Given the description of an element on the screen output the (x, y) to click on. 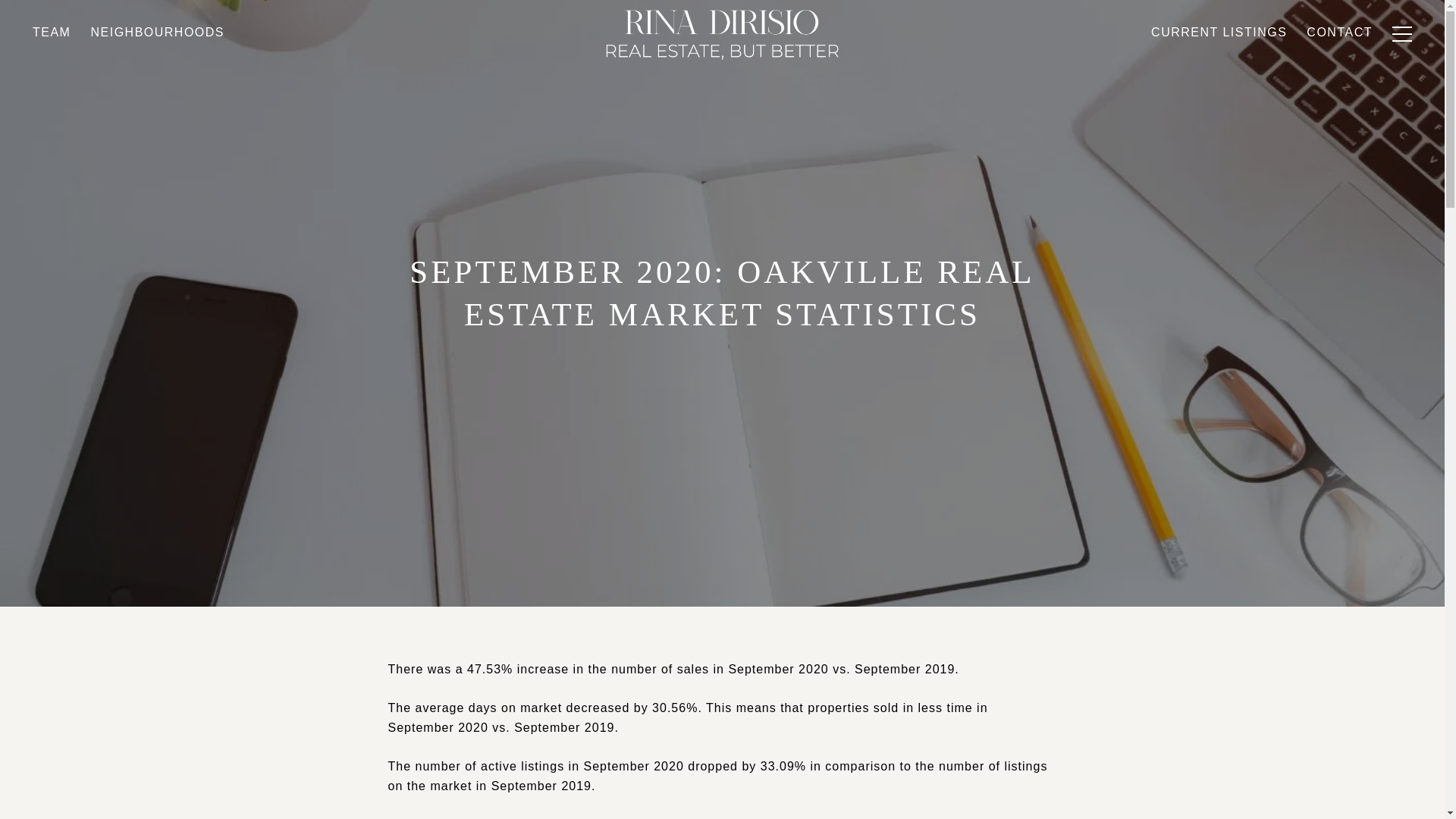
TEAM (51, 75)
CONTACT (1339, 66)
NEIGHBOURHOODS (157, 74)
CURRENT LISTINGS (1219, 69)
